Given the description of an element on the screen output the (x, y) to click on. 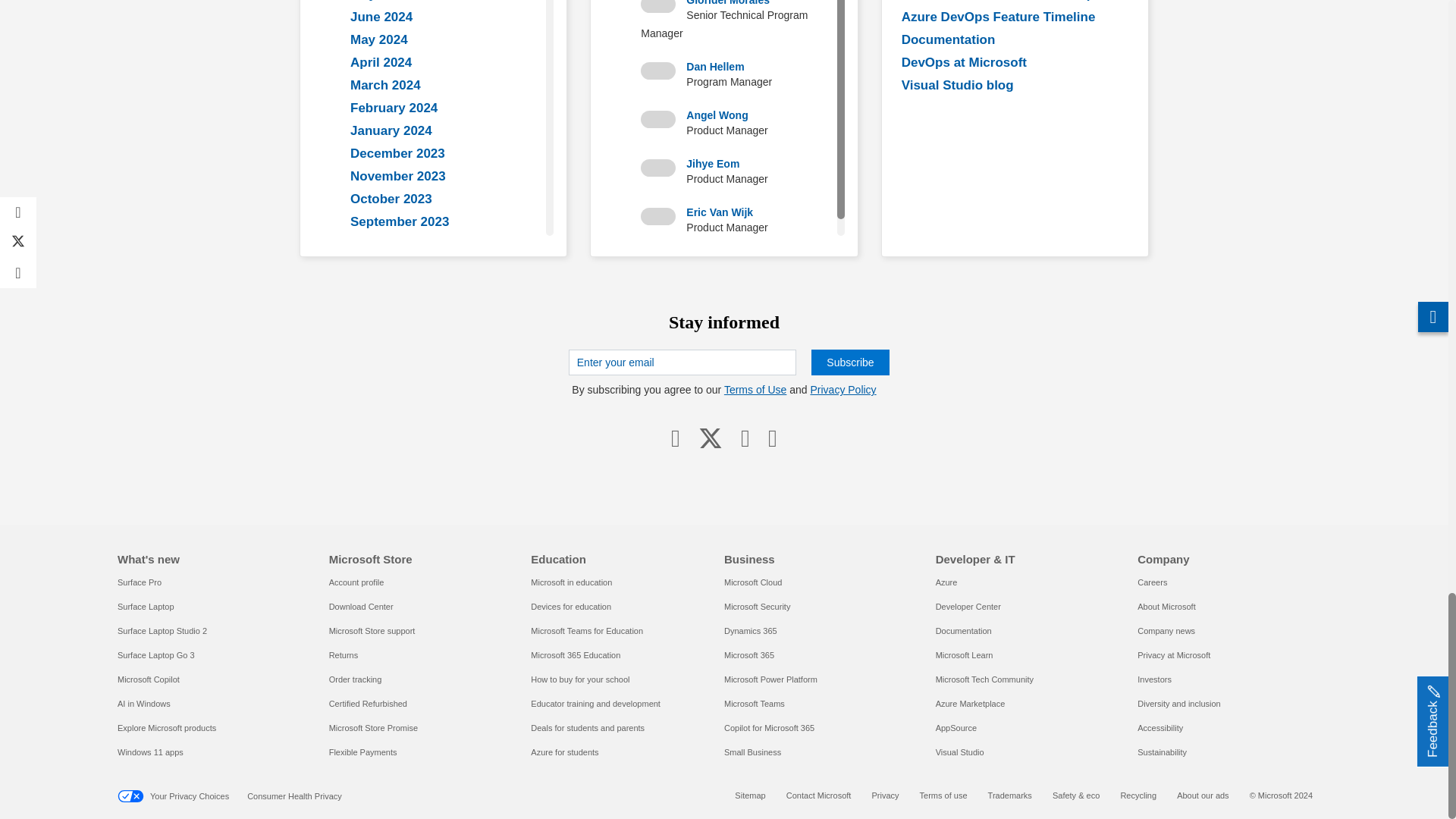
youtube (745, 437)
facebook (675, 437)
Subscribe (849, 362)
RSS Feed (772, 437)
twitter (710, 437)
